Given the description of an element on the screen output the (x, y) to click on. 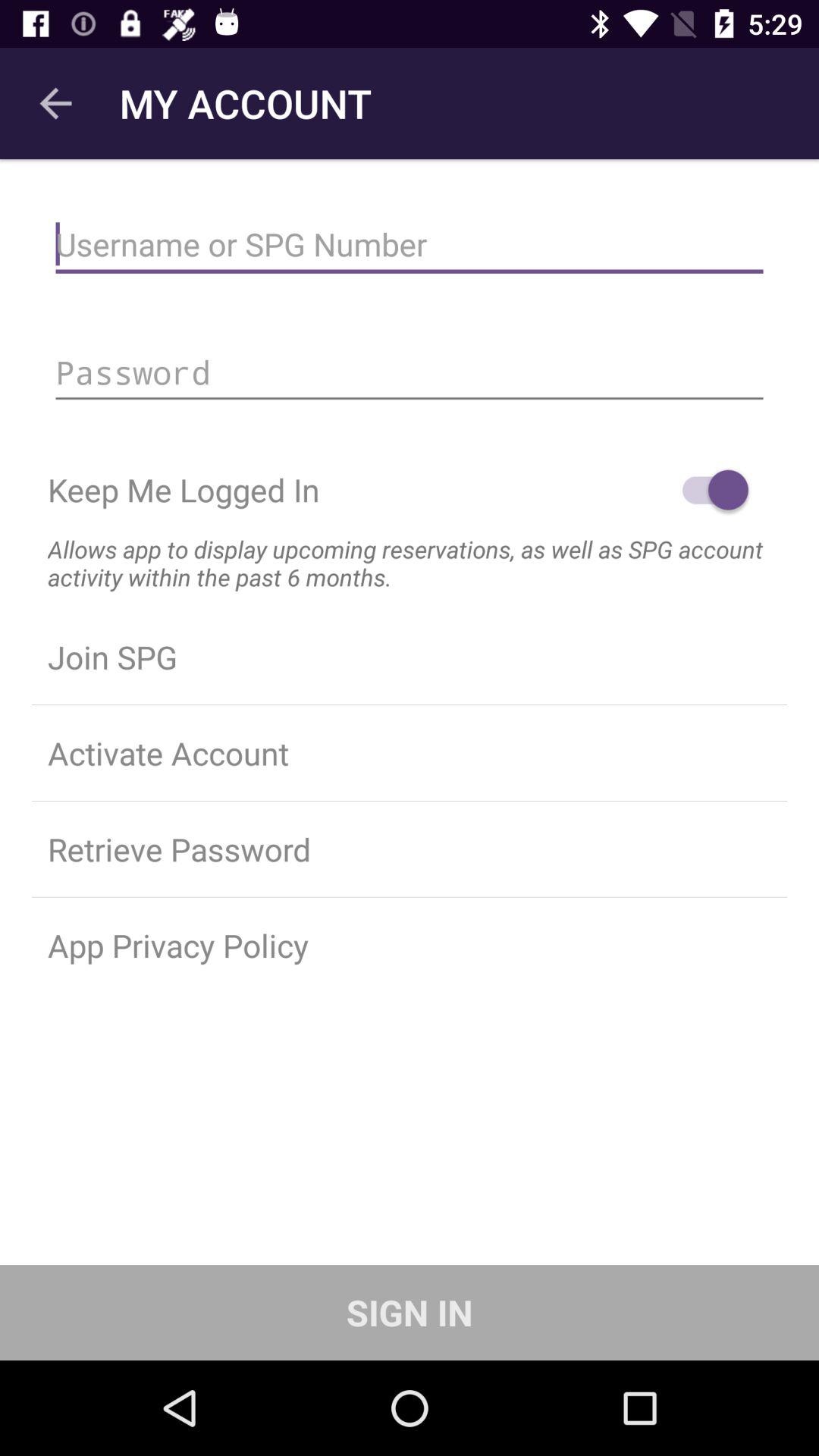
click icon below join spg (409, 752)
